Given the description of an element on the screen output the (x, y) to click on. 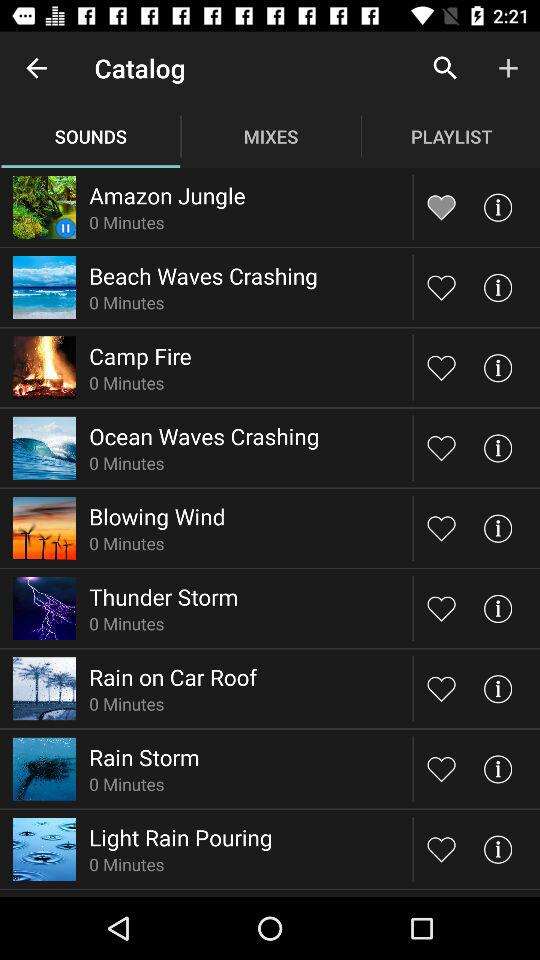
turn off app to the left of catalog item (36, 68)
